Given the description of an element on the screen output the (x, y) to click on. 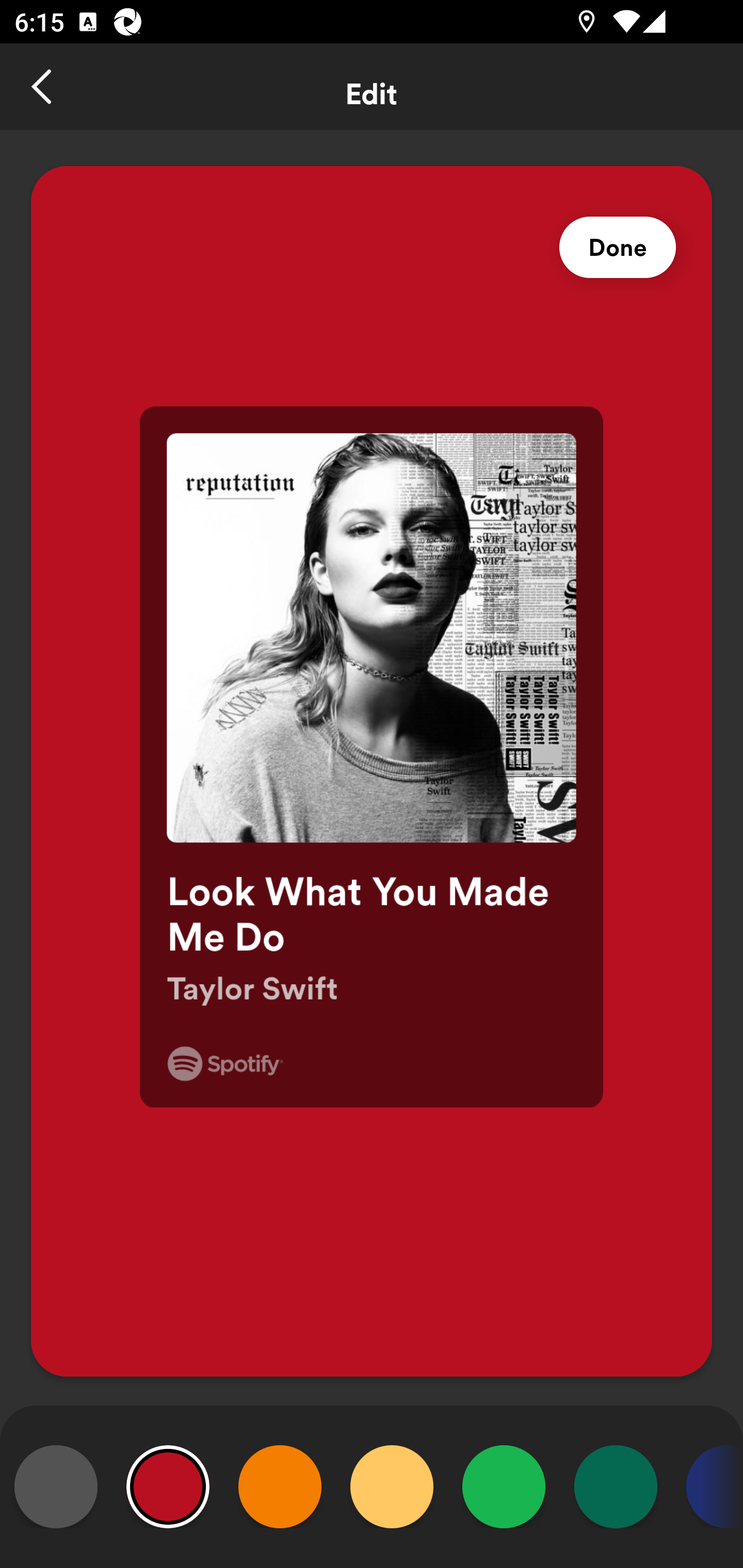
Close the Now Playing View (43, 86)
Done (617, 247)
